Given the description of an element on the screen output the (x, y) to click on. 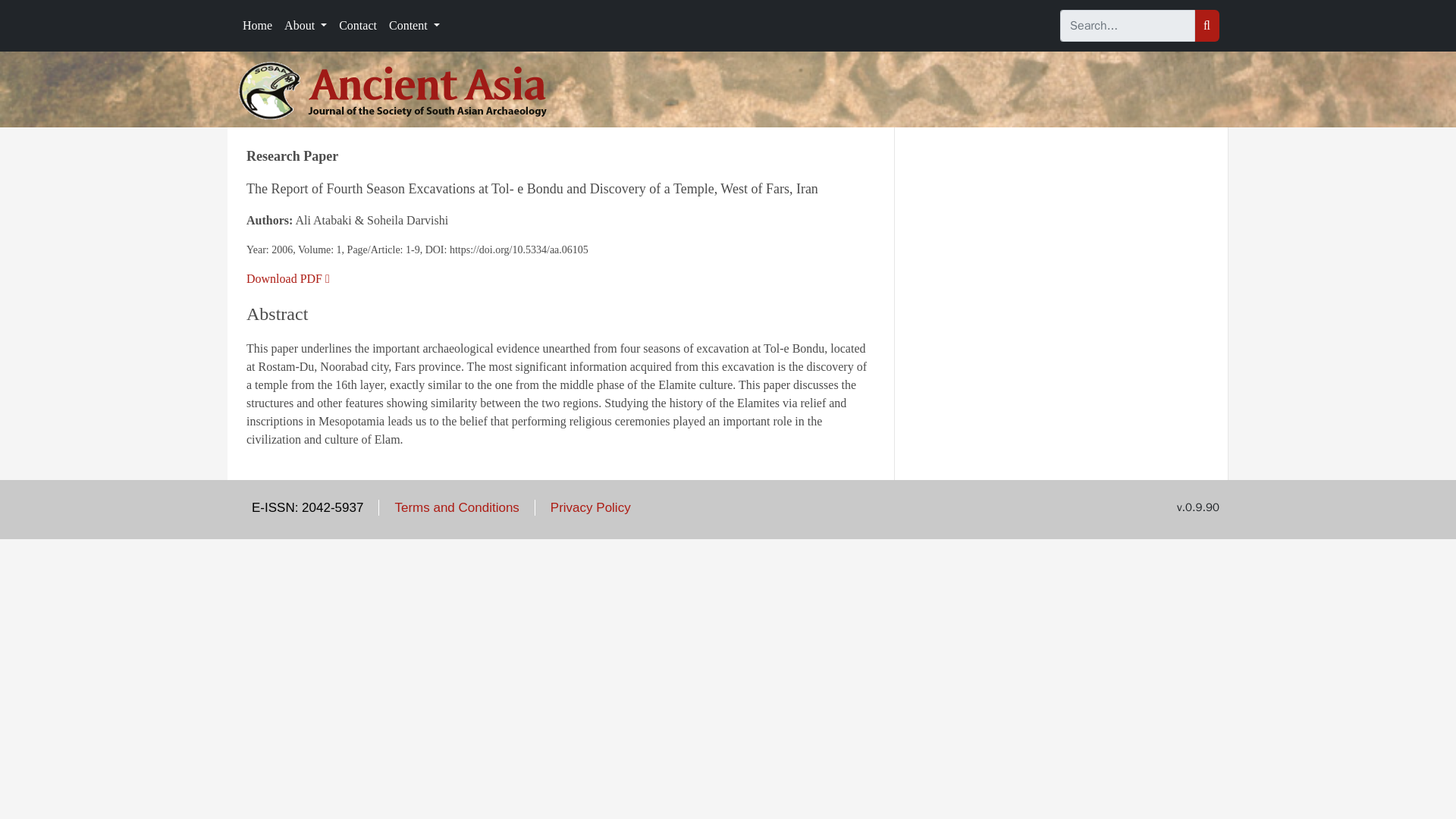
Terms and Conditions (456, 507)
Contact (357, 25)
Download PDF (288, 278)
About (305, 25)
Home (256, 25)
Content (413, 25)
Privacy Policy (590, 507)
